Given the description of an element on the screen output the (x, y) to click on. 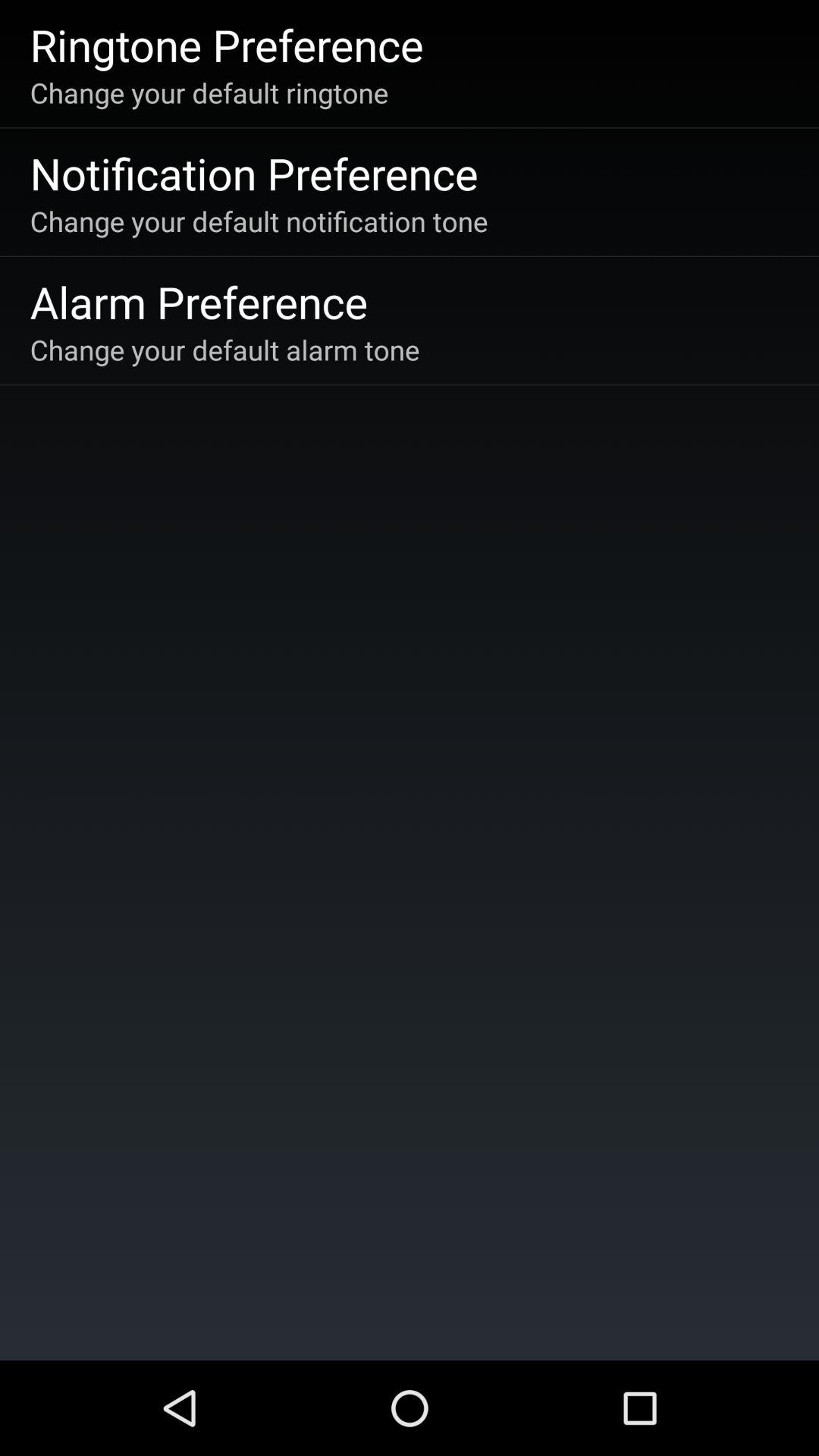
tap icon above change your default item (198, 301)
